Given the description of an element on the screen output the (x, y) to click on. 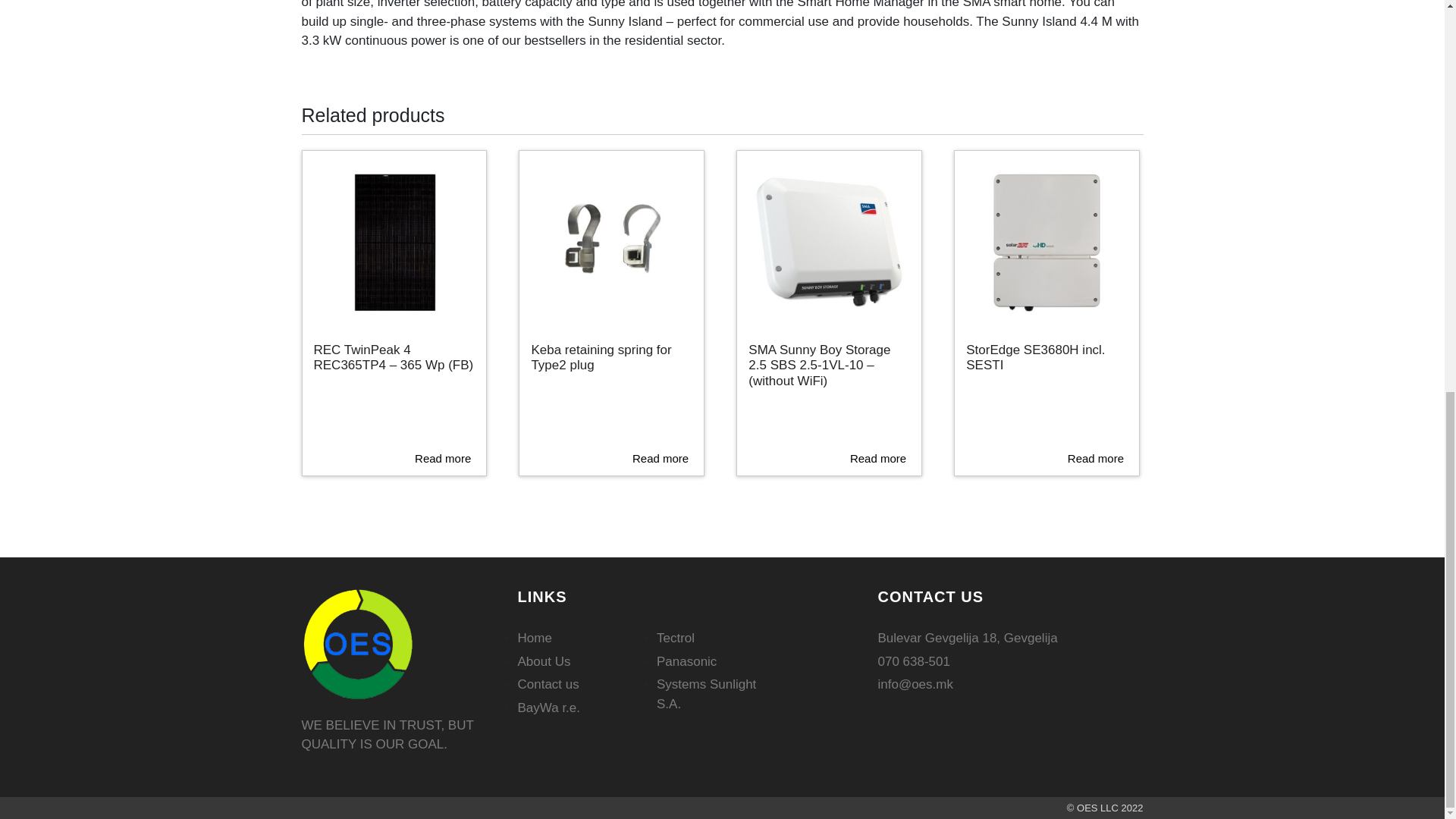
BayWa r.e. (547, 707)
Read more (659, 458)
Tectrol (675, 637)
Read more (442, 458)
About Us (543, 661)
Systems Sunlight S.A. (705, 694)
Read more (877, 458)
Home (533, 637)
Read more (1095, 458)
Contact us (547, 684)
Panasonic (686, 661)
